Given the description of an element on the screen output the (x, y) to click on. 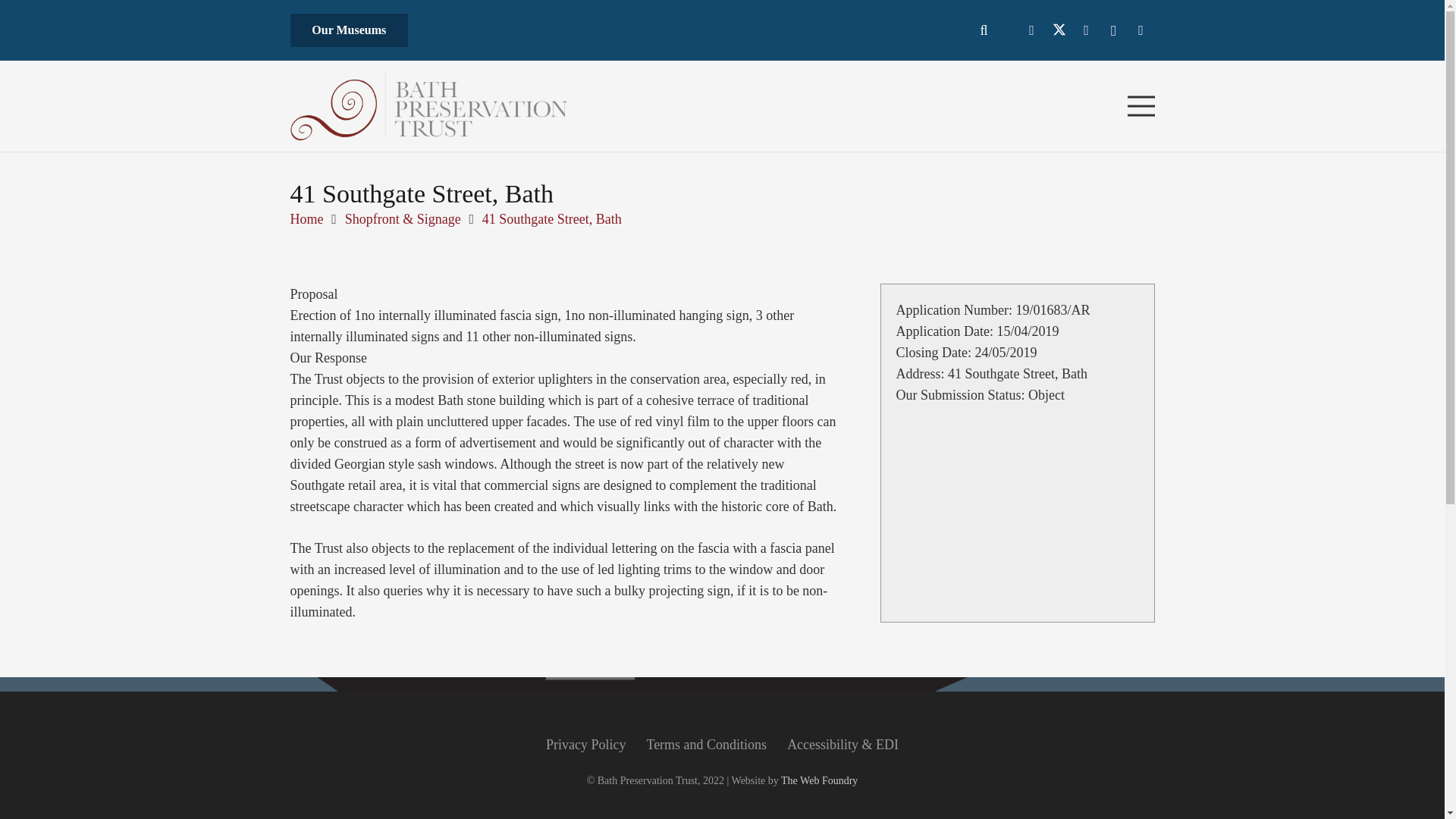
Facebook (308, 246)
Tripadvisor (478, 246)
YouTube (393, 246)
Tripadvisor (1140, 30)
Twitter (350, 246)
Instagram (1112, 30)
Facebook (1031, 30)
Twitter (1058, 30)
Instagram (435, 246)
YouTube (1085, 30)
Our Museums (348, 30)
